Given the description of an element on the screen output the (x, y) to click on. 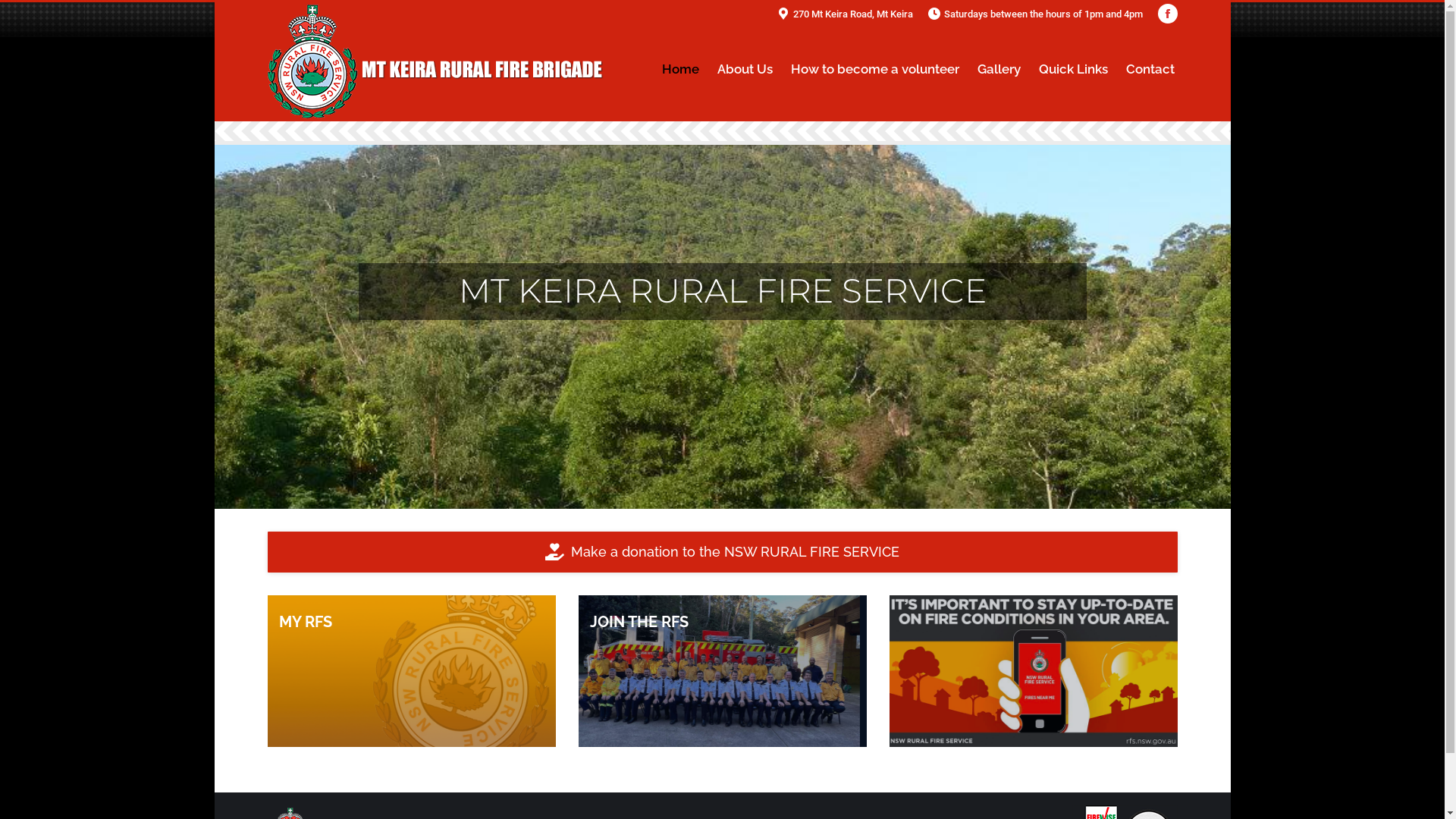
About Us Element type: text (744, 68)
Home Element type: text (679, 68)
Gallery Element type: text (997, 68)
Quick Links Element type: text (1072, 68)
Facebook Element type: text (1166, 13)
How to become a volunteer Element type: text (874, 68)
Make a donation to the NSW RURAL FIRE SERVICE Element type: text (721, 551)
Contact Element type: text (1149, 68)
